Given the description of an element on the screen output the (x, y) to click on. 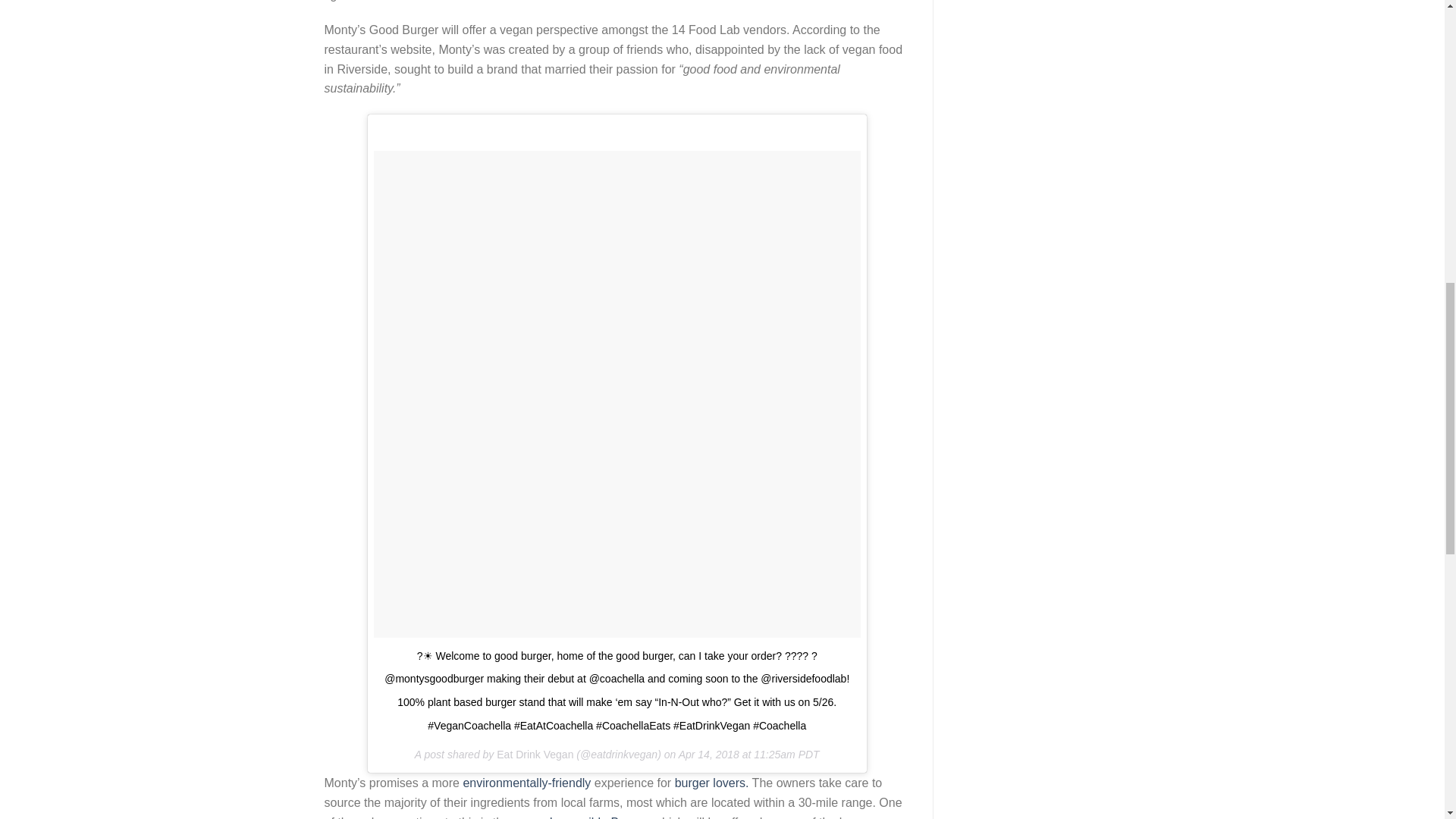
vegan Impossible Burger (579, 817)
burger lovers. (712, 782)
Eat Drink Vegan (534, 754)
environmentally-friendly (527, 782)
